Given the description of an element on the screen output the (x, y) to click on. 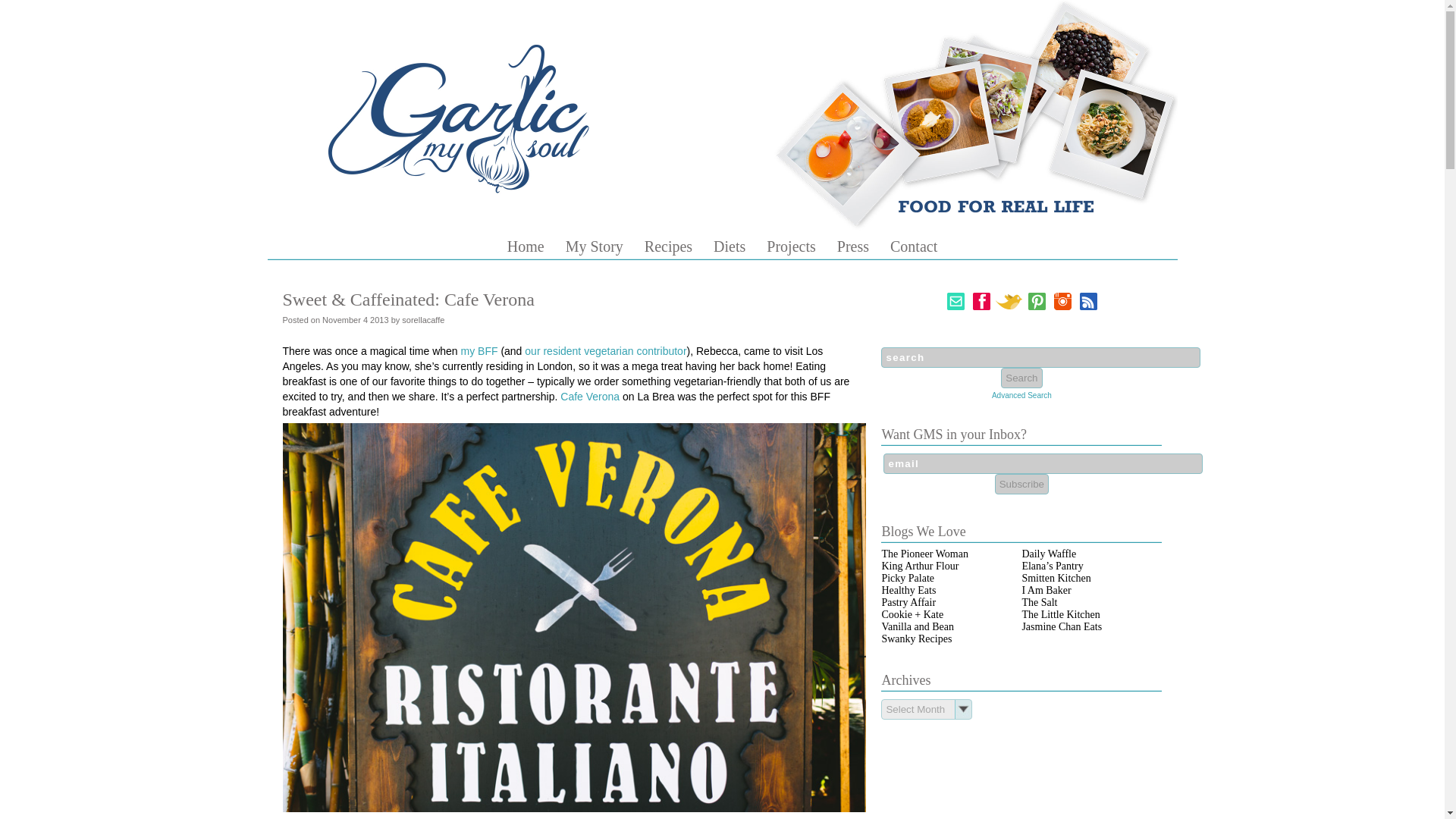
November (341, 319)
2013 (378, 319)
Contact (913, 246)
My Story (594, 246)
Search (1021, 377)
View Archives for 2013 (378, 319)
Cafe Verona (590, 396)
View Archives for November 2013 (341, 319)
our resident vegetarian contributor (604, 350)
Home (525, 246)
sorellacaffe (422, 319)
View all posts by sorellacaffe (422, 319)
Projects (791, 246)
Recipes (669, 246)
4 (365, 319)
